Given the description of an element on the screen output the (x, y) to click on. 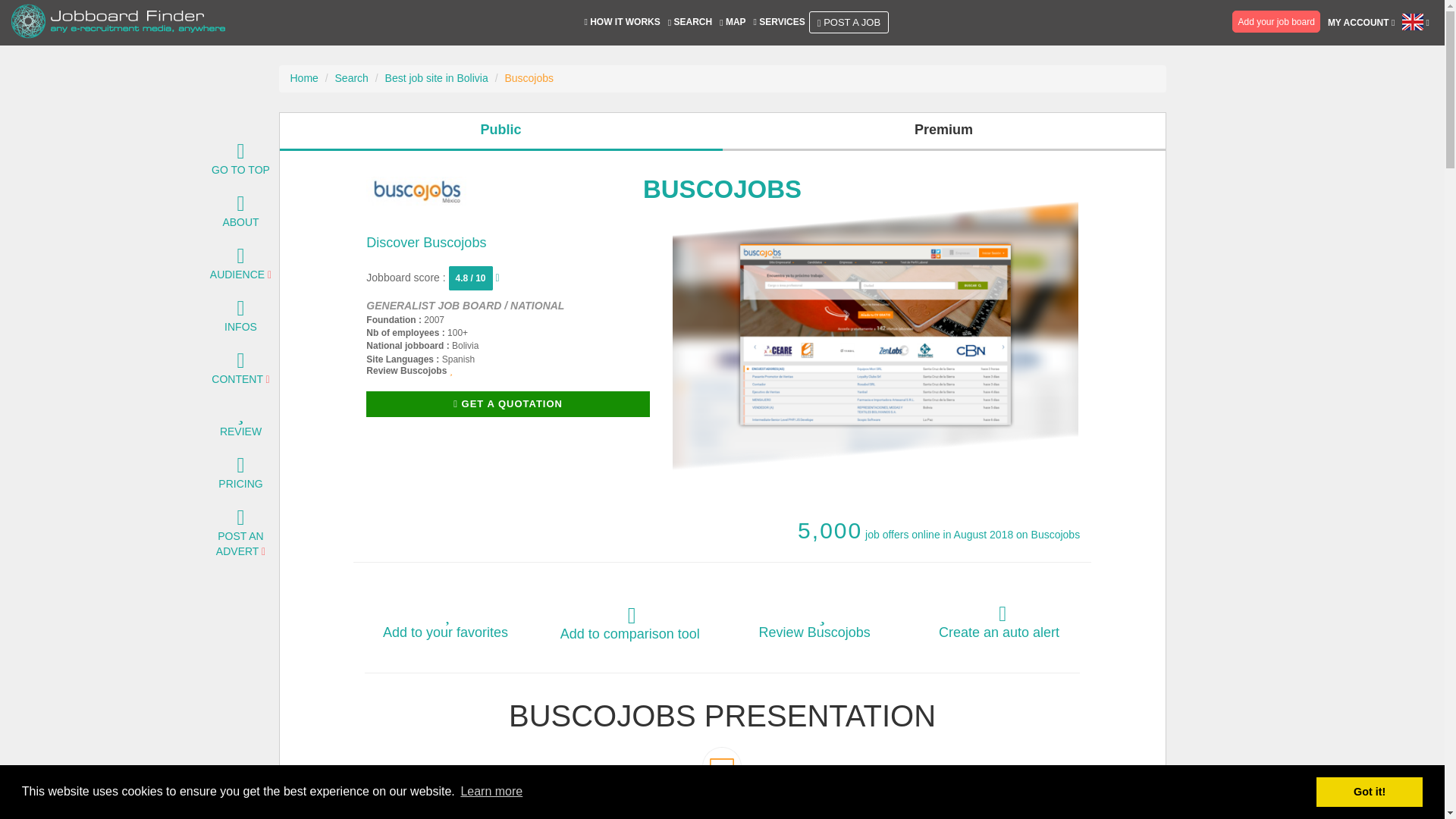
Best job site in Bolivia (436, 78)
Review Buscojobs (408, 370)
Learn more (491, 791)
Buscojobs (415, 190)
REVIEW (240, 423)
CONTENT (239, 536)
AUDIENCE (236, 370)
SEARCH (236, 266)
POST A JOB (689, 21)
PRICING (848, 22)
GET A QUOTATION (240, 475)
5,000 job offers online in August 2018 on Buscojobs (507, 404)
HOW IT WORKS (938, 534)
Add your job board (621, 21)
